Given the description of an element on the screen output the (x, y) to click on. 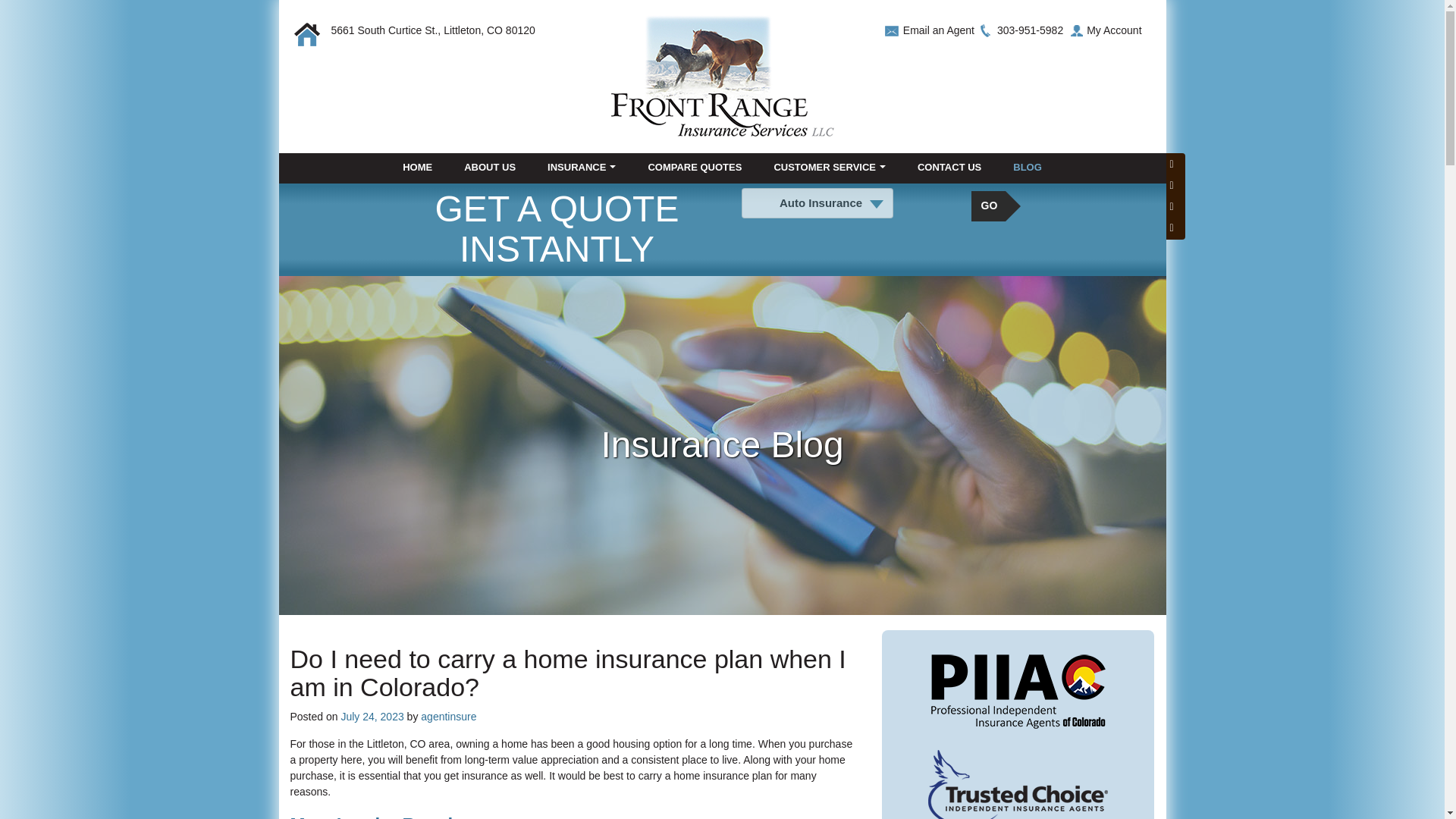
Littleton Insurance Agents (417, 166)
Get directions to Front Range Insurance Services (432, 30)
About Front Range Insurance Services (489, 166)
5661 South Curtice St., Littleton, CO 80120 (432, 30)
BLOG (1027, 166)
ABOUT US (489, 166)
Email an Agent (938, 30)
INSURANCE (581, 166)
COMPARE QUOTES (694, 166)
CUSTOMER SERVICE (829, 166)
myaccount (1101, 30)
My Account (1101, 30)
CONTACT US (949, 166)
Email an Agent (938, 30)
HOME (417, 166)
